Given the description of an element on the screen output the (x, y) to click on. 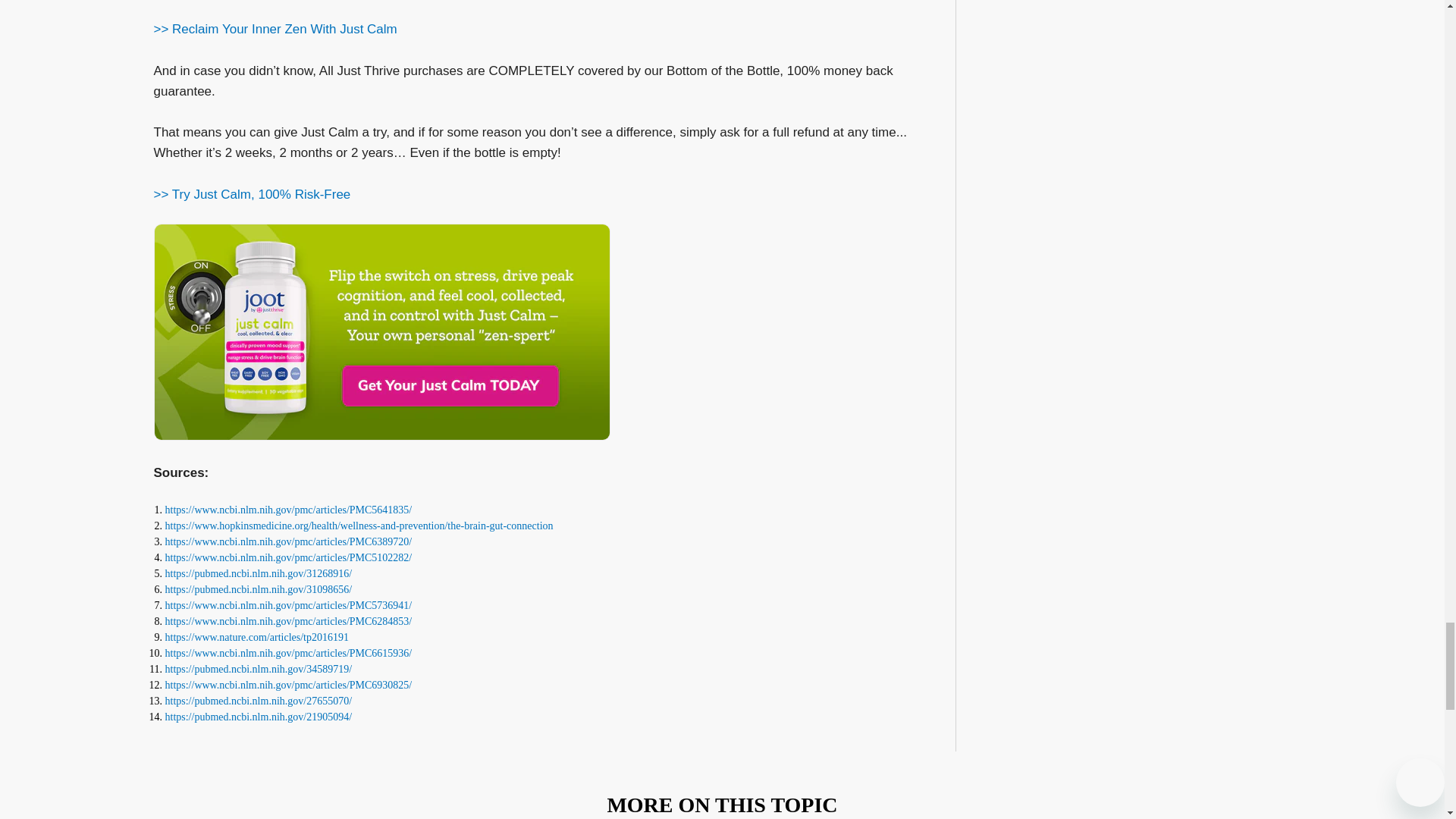
psychobiotics (258, 573)
brain-gut connection (359, 525)
Just Calm psychobiotic (251, 194)
gut microbiota mental health (288, 509)
psychobiotics bacteria (288, 557)
Just Calm psychobiotic (381, 332)
Just Calm psychobiotic (274, 29)
gut microbiota mood disorders (288, 541)
gut microbiota major depressive disorder (288, 621)
stress gut-brain axis (288, 604)
gut microbes dopamine (258, 589)
bifidobacterium longum 1714 stress (257, 636)
